Given the description of an element on the screen output the (x, y) to click on. 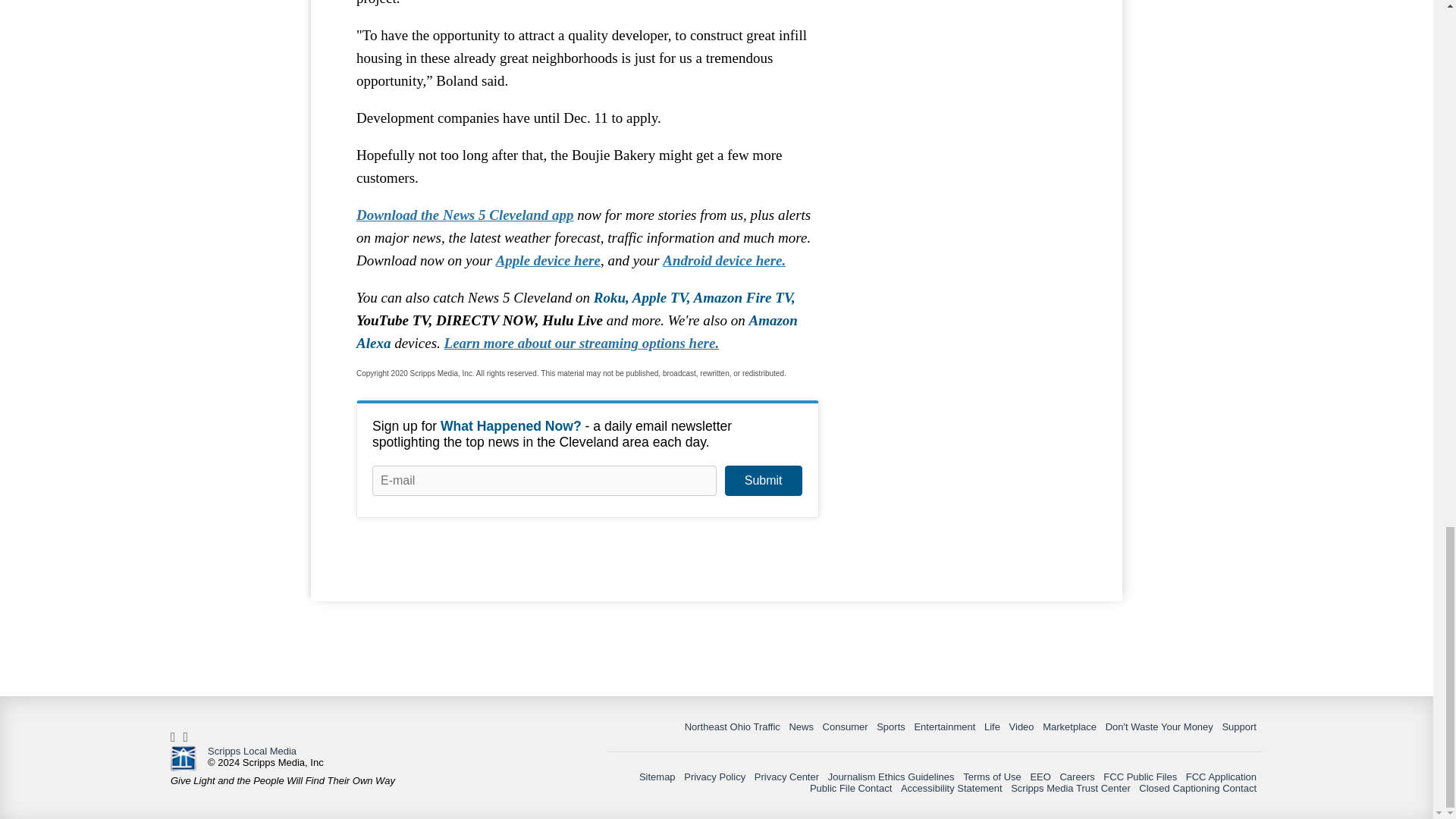
Submit (763, 481)
